Given the description of an element on the screen output the (x, y) to click on. 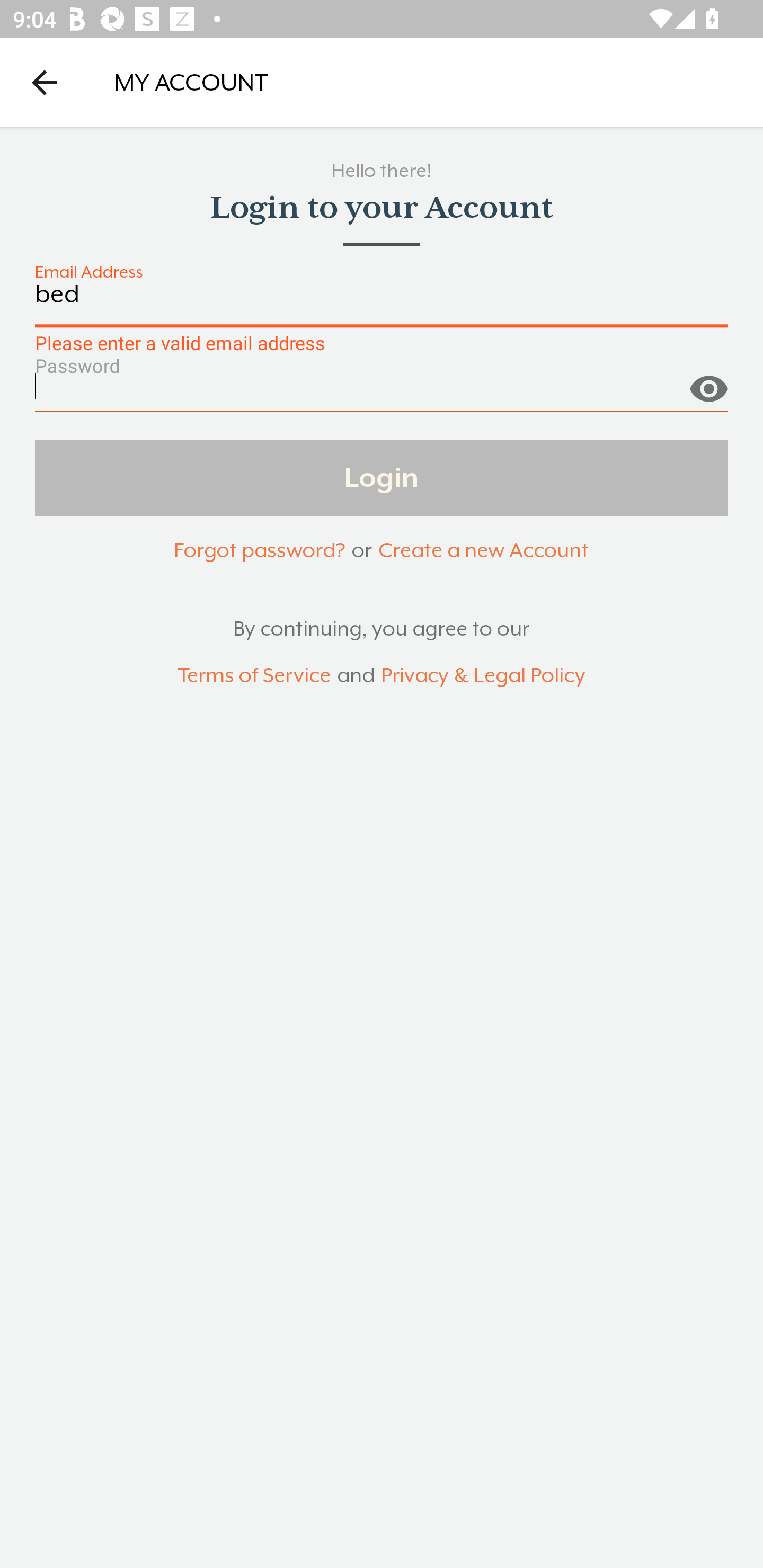
Navigate up (44, 82)
bed (381, 304)
 (708, 381)
Password (381, 393)
Login (381, 477)
Forgot password? (259, 550)
Create a new Account (483, 550)
Terms of Service (253, 675)
Privacy & Legal Policy (483, 675)
